Given the description of an element on the screen output the (x, y) to click on. 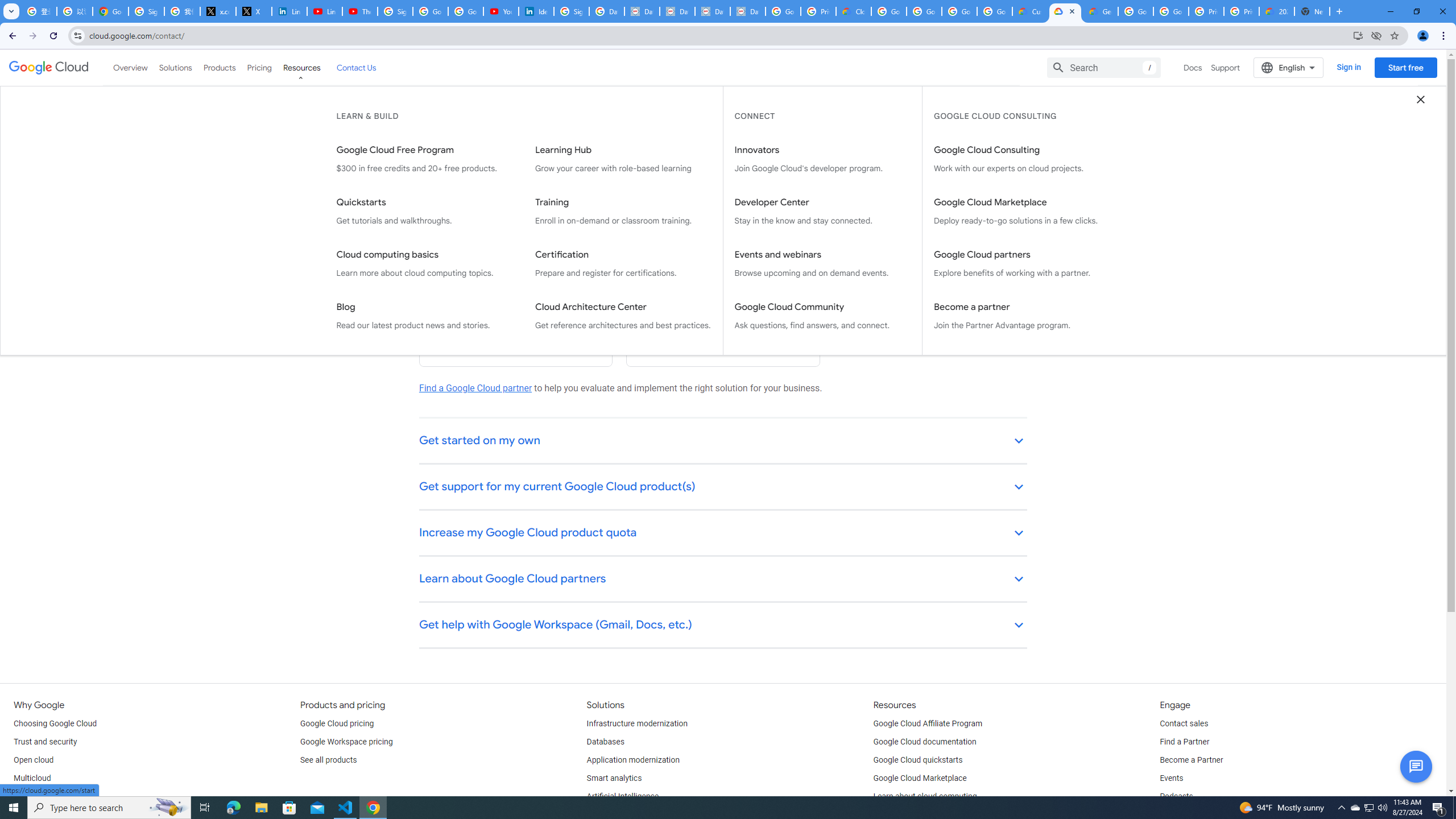
Become a Partner (1190, 760)
Google Workspace - Specific Terms (959, 11)
Support (1225, 67)
Address and search bar (717, 35)
Google Cloud pricing (336, 723)
Artificial Intelligence (622, 796)
Infrastructure modernization (637, 723)
Google Cloud (48, 67)
Open cloud (33, 760)
Cloud Data Processing Addendum | Google Cloud (853, 11)
